Given the description of an element on the screen output the (x, y) to click on. 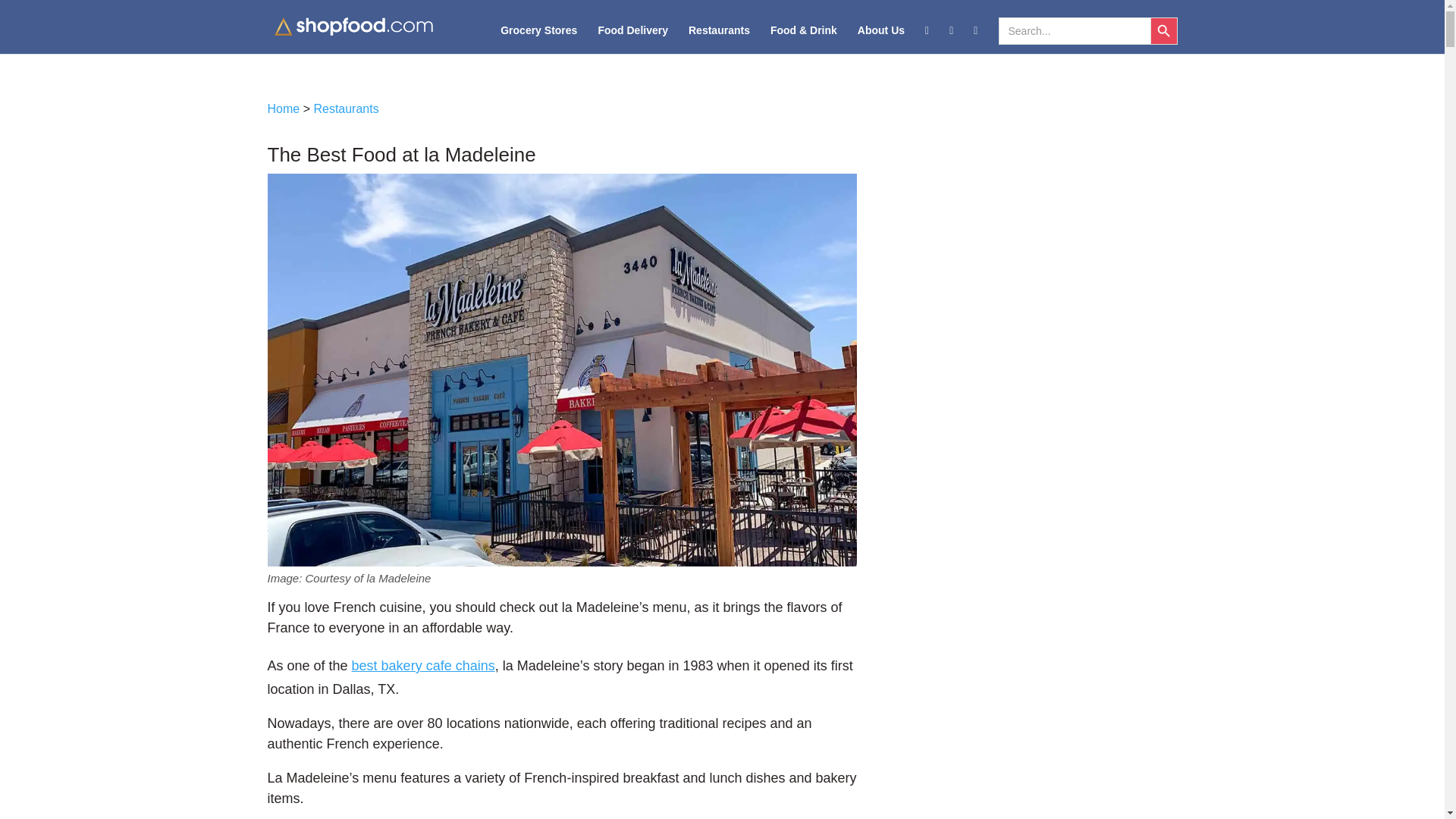
Restaurants (718, 39)
Home (282, 108)
About Us (880, 39)
Grocery Stores (538, 39)
best bakery cafe chains (423, 665)
Restaurants (345, 108)
Search Button (1163, 31)
Food Delivery (632, 39)
